Given the description of an element on the screen output the (x, y) to click on. 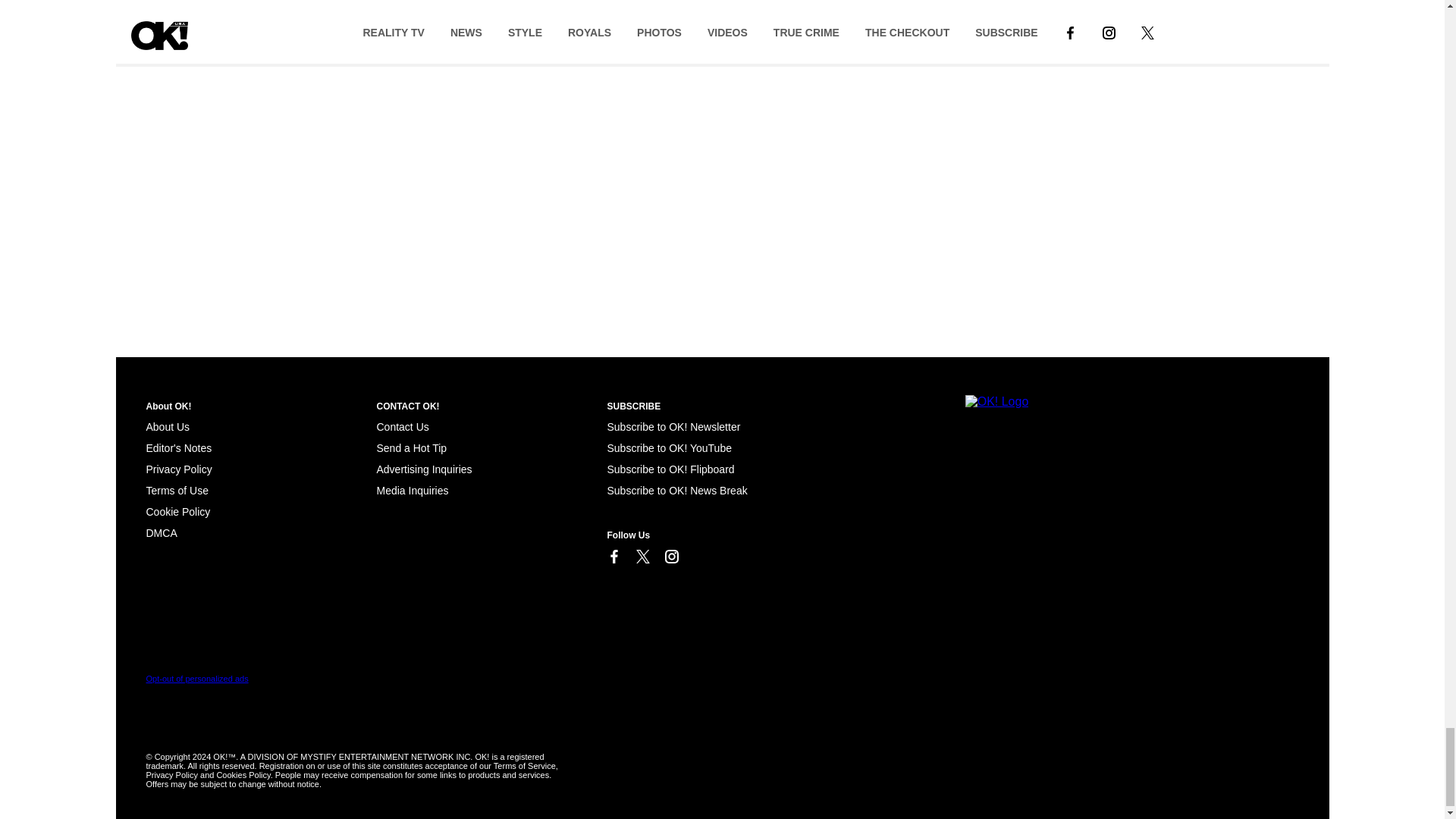
Link to X (641, 556)
Cookie Policy (160, 532)
Contact Us (401, 426)
Advertising Inquiries (423, 469)
Cookie Policy (177, 511)
Link to Instagram (670, 556)
Privacy Policy (178, 469)
Link to Facebook (613, 556)
Terms of Use (176, 490)
Send a Hot Tip (410, 448)
